Given the description of an element on the screen output the (x, y) to click on. 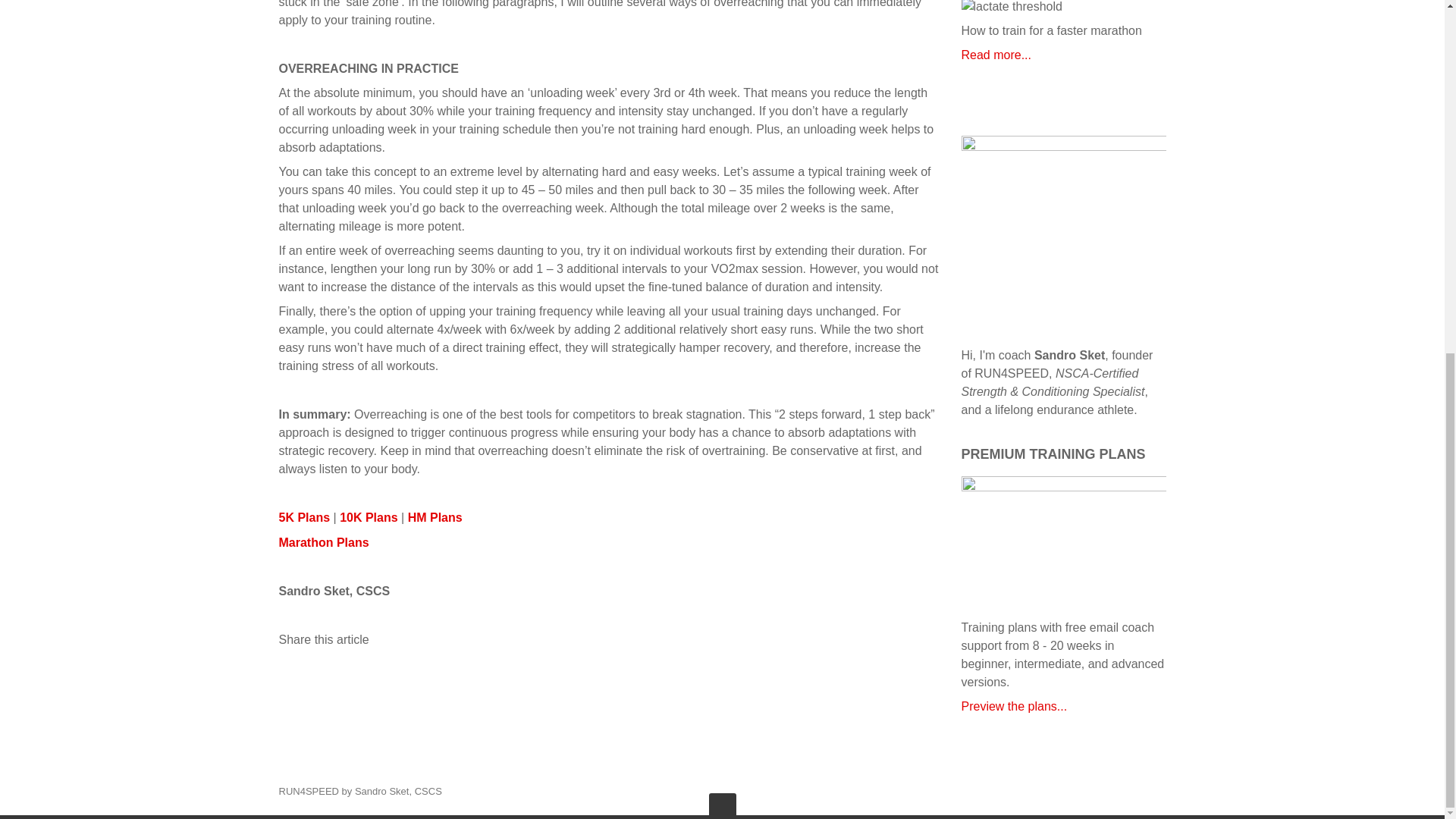
HM Plans (435, 517)
Marathon Plans (324, 542)
5K Plans (304, 517)
Instagram (1158, 792)
10K Plans (368, 517)
Preview the plans... (1013, 706)
Twitter (1136, 792)
Read more... (995, 54)
Facebook (1116, 792)
